Given the description of an element on the screen output the (x, y) to click on. 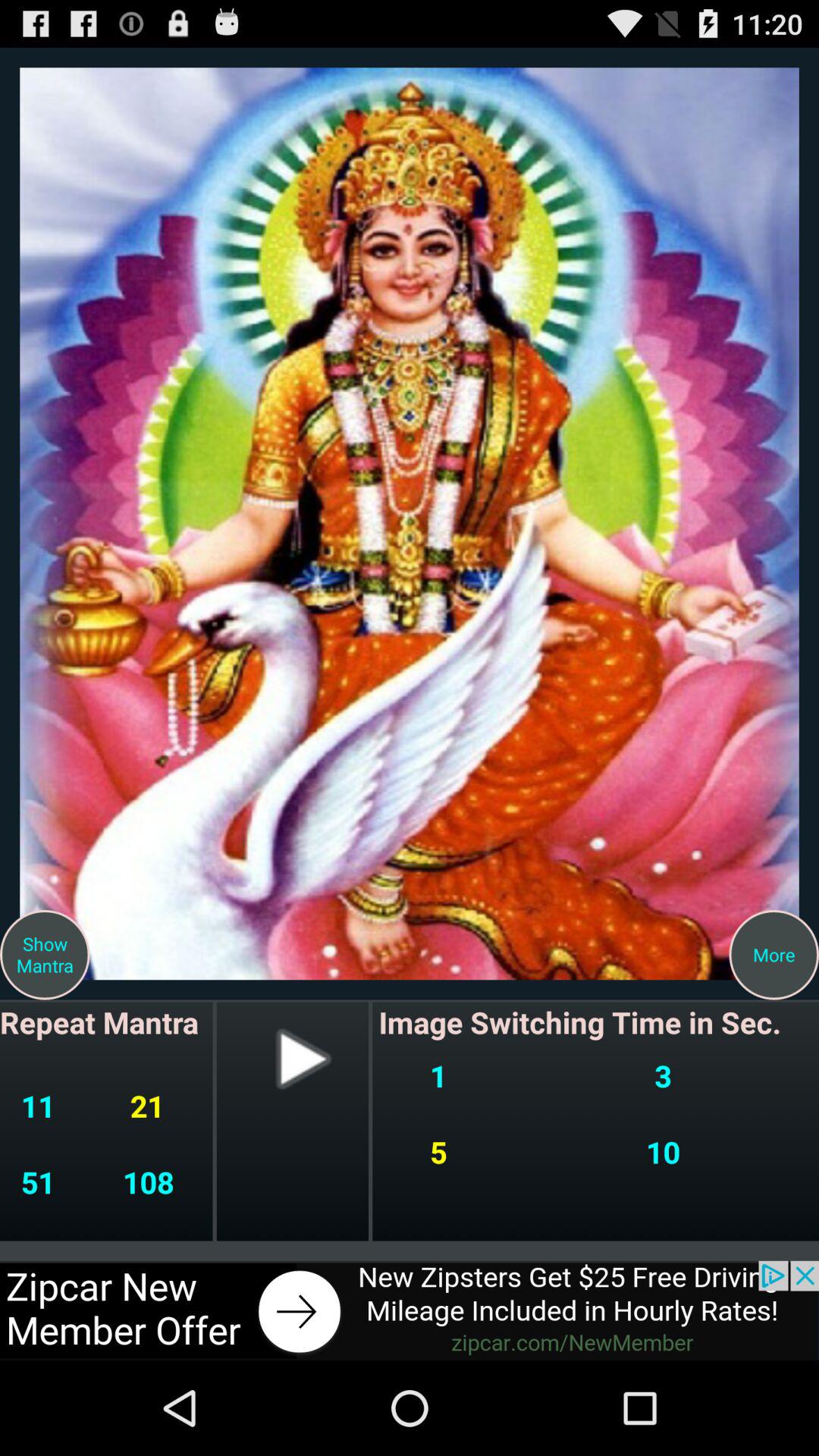
click on more (774, 955)
